Given the description of an element on the screen output the (x, y) to click on. 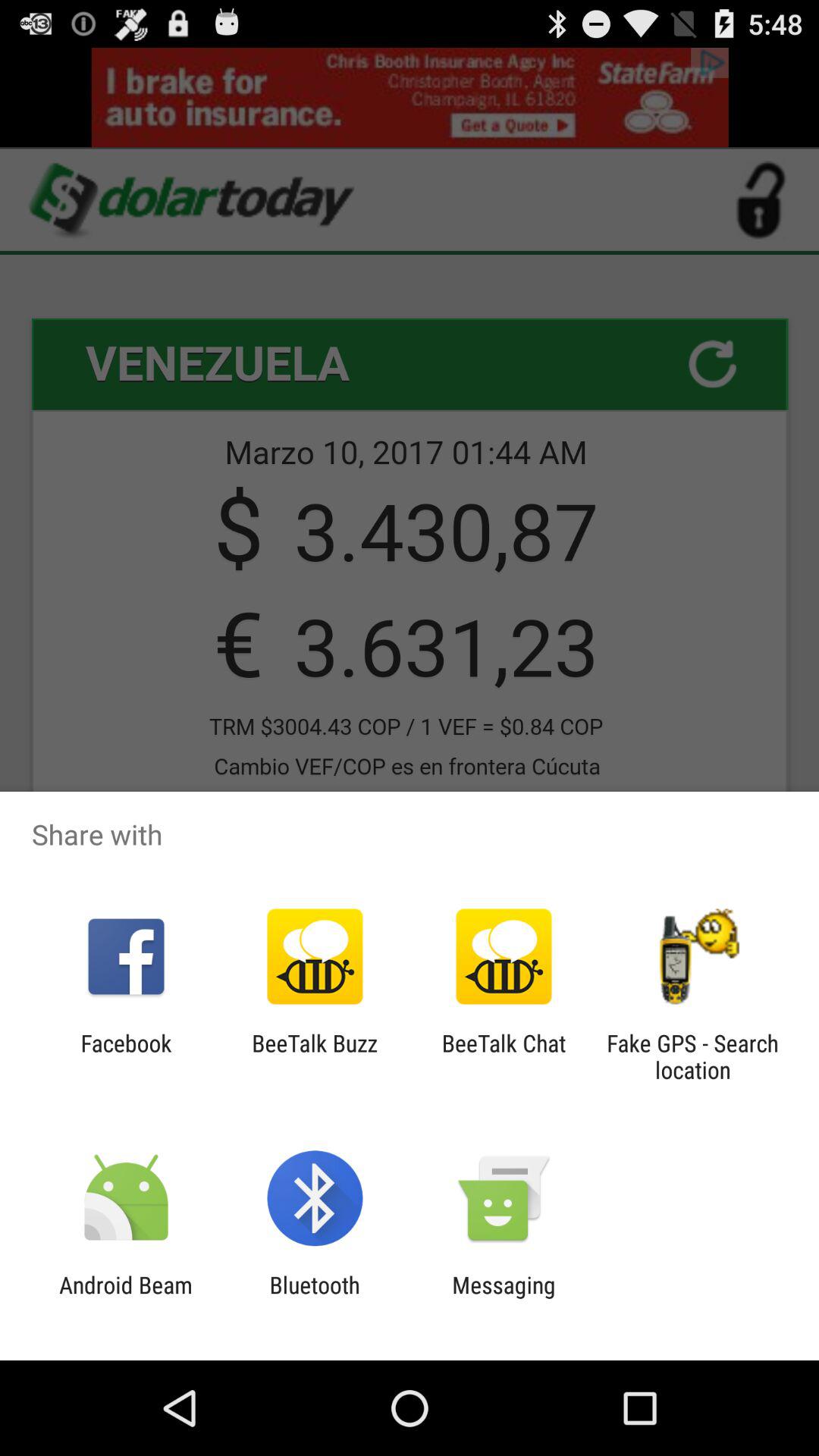
press the bluetooth app (314, 1298)
